Given the description of an element on the screen output the (x, y) to click on. 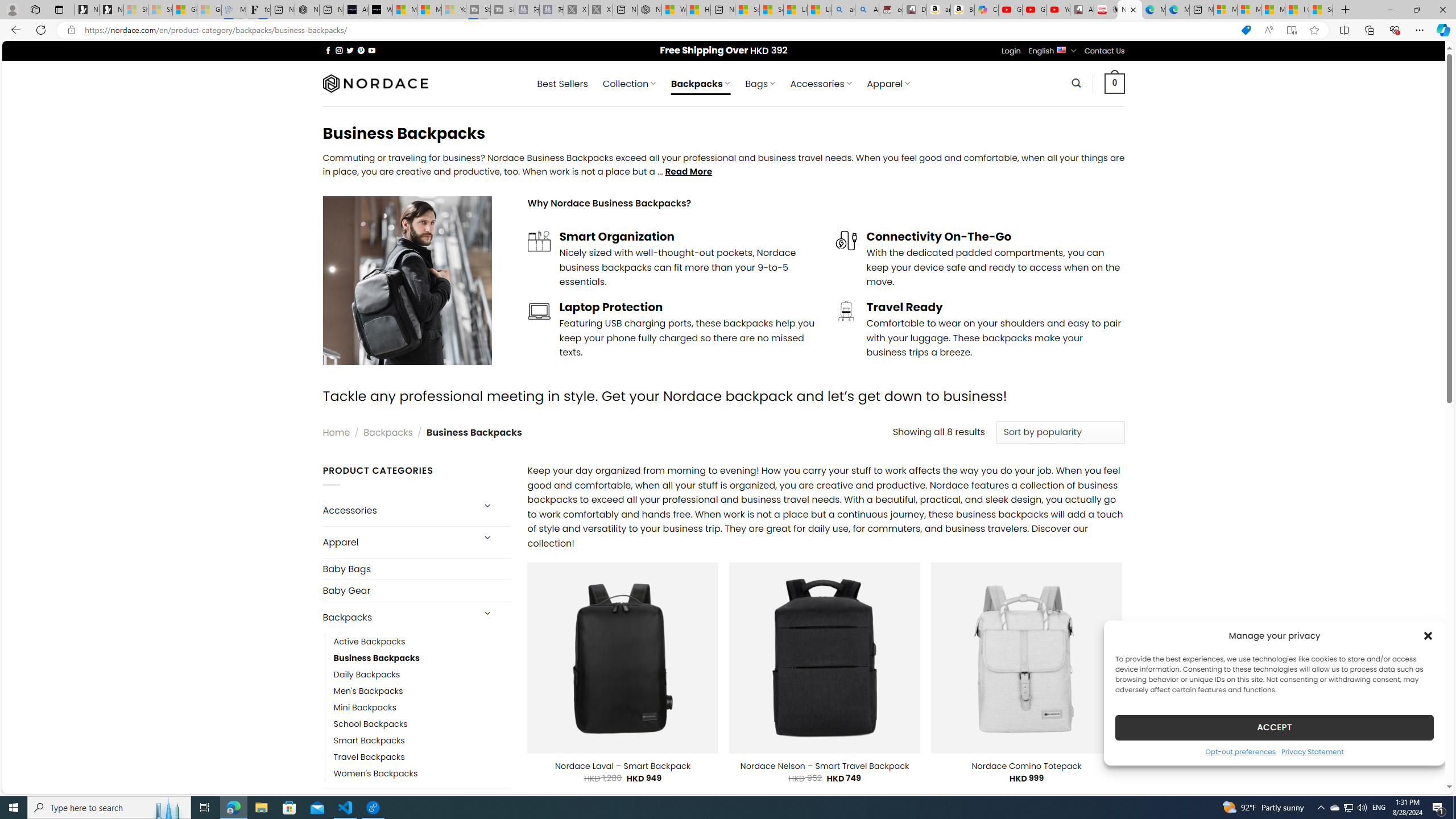
Daily Backpacks (366, 674)
Privacy Statement (1312, 750)
Women's Backpacks (422, 773)
Backpacks (397, 617)
  Best Sellers (562, 83)
